Given the description of an element on the screen output the (x, y) to click on. 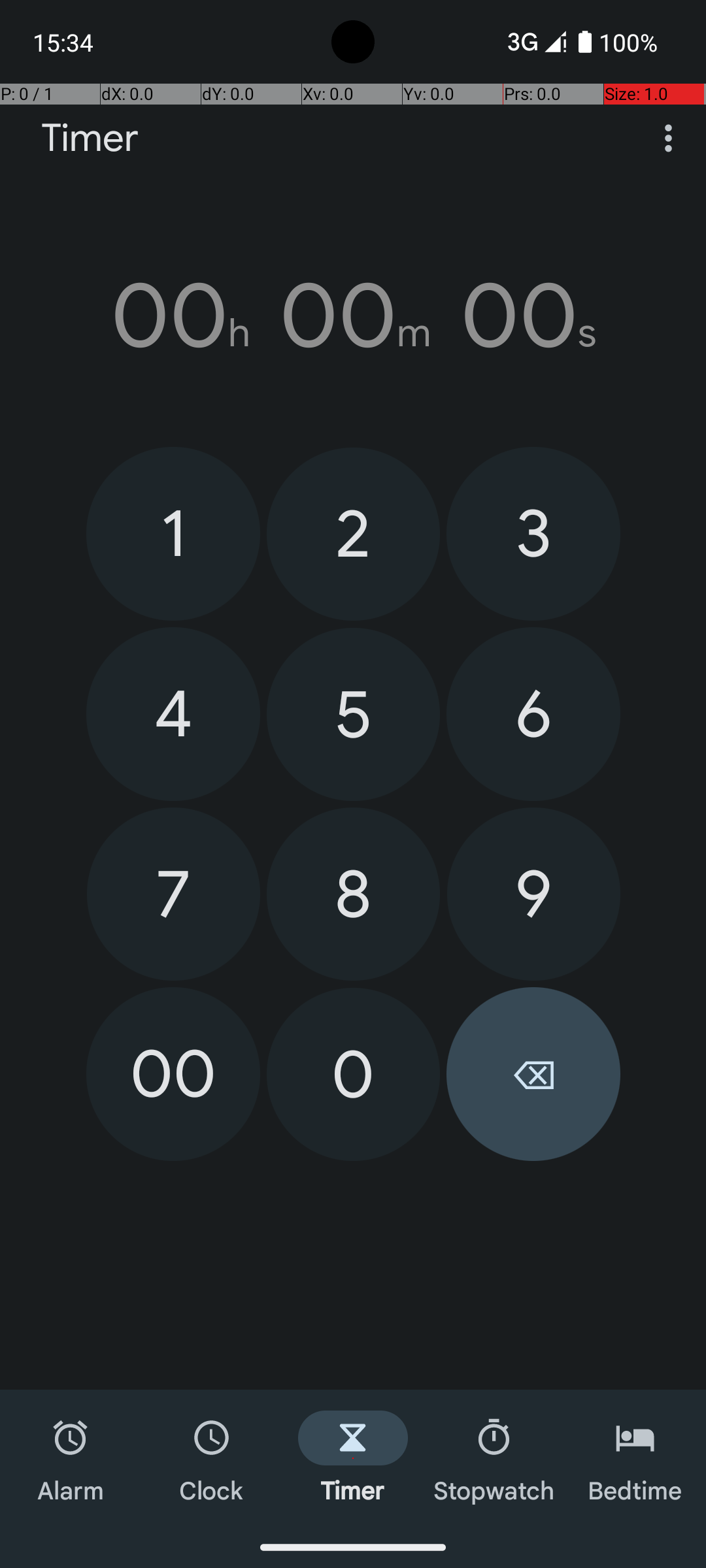
00h 00m 00s Element type: android.widget.TextView (353, 315)
